Given the description of an element on the screen output the (x, y) to click on. 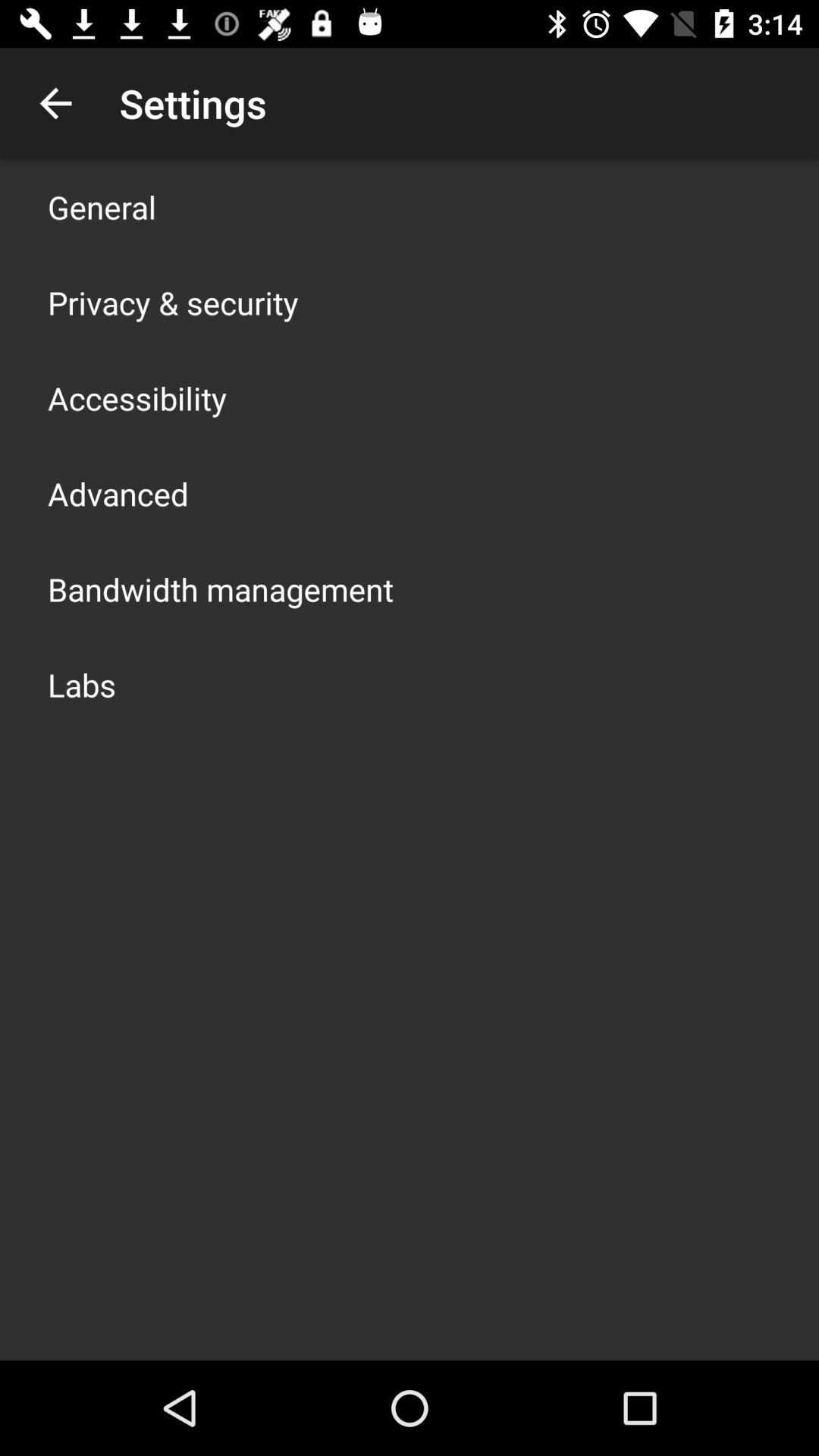
turn on app below bandwidth management app (81, 684)
